Given the description of an element on the screen output the (x, y) to click on. 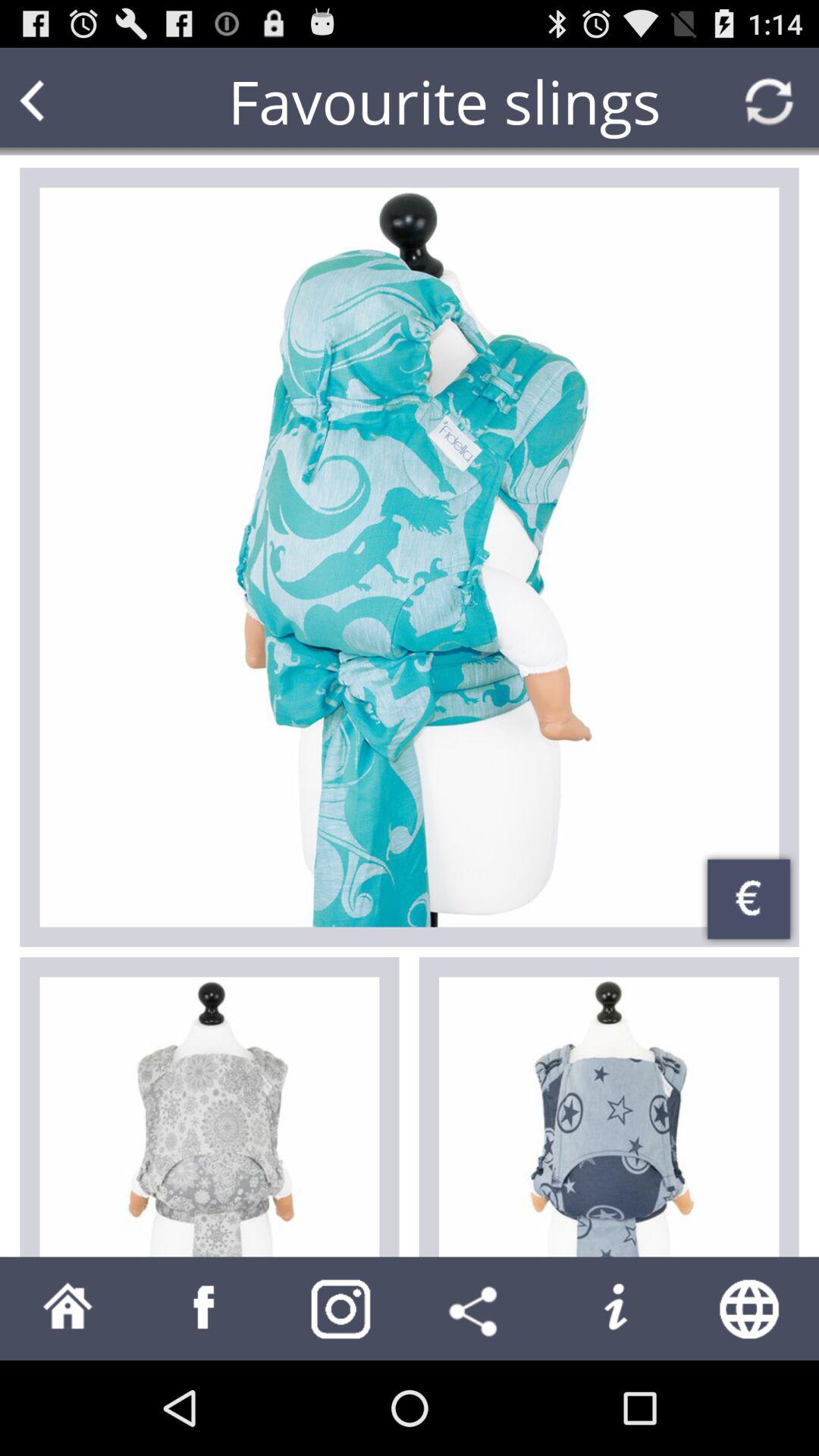
share (477, 1308)
